Given the description of an element on the screen output the (x, y) to click on. 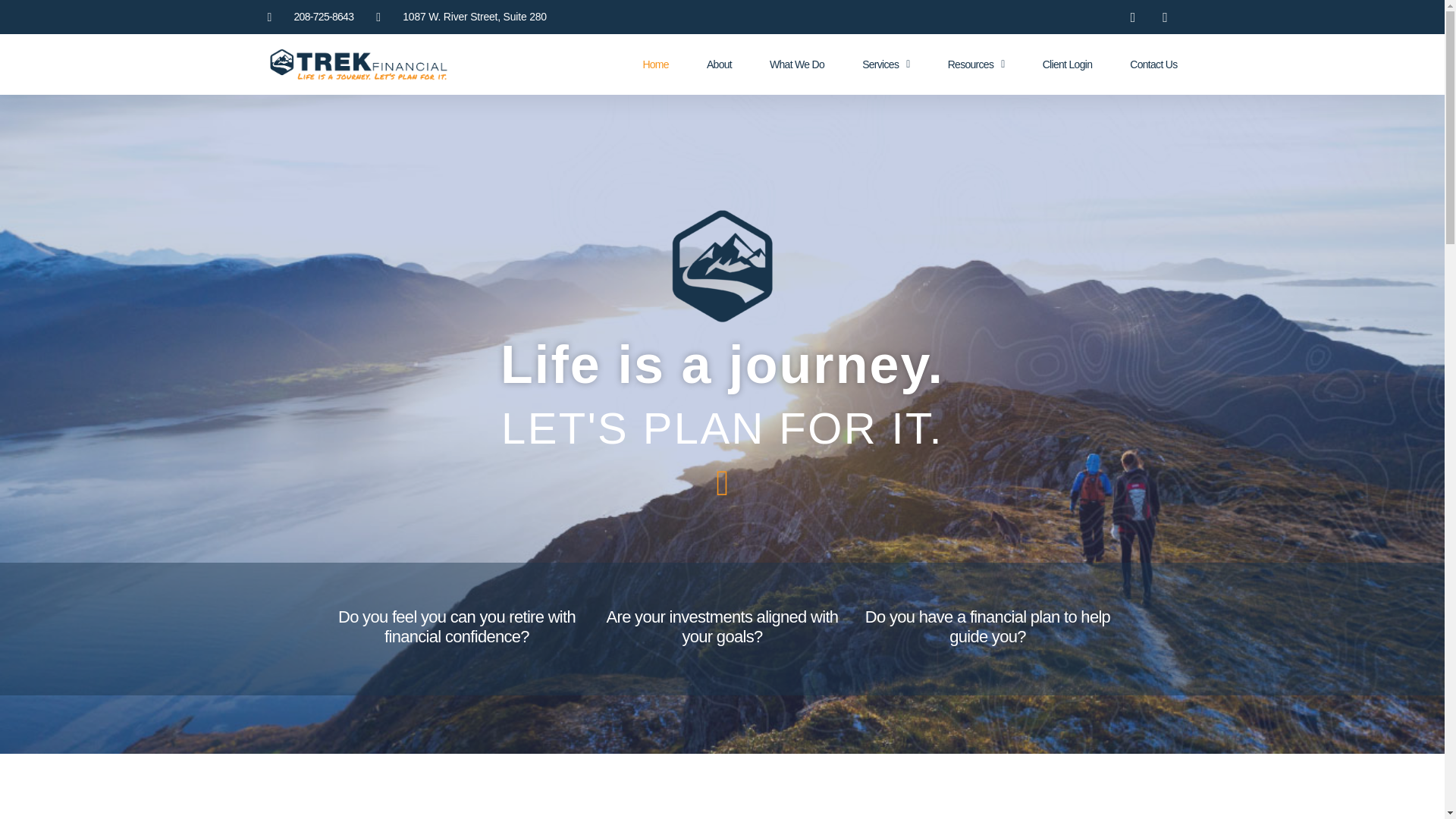
Services (885, 63)
208-725-8643 (309, 17)
What We Do (797, 63)
Resources (975, 63)
Contact Us (1152, 63)
Client Login (1067, 63)
